Given the description of an element on the screen output the (x, y) to click on. 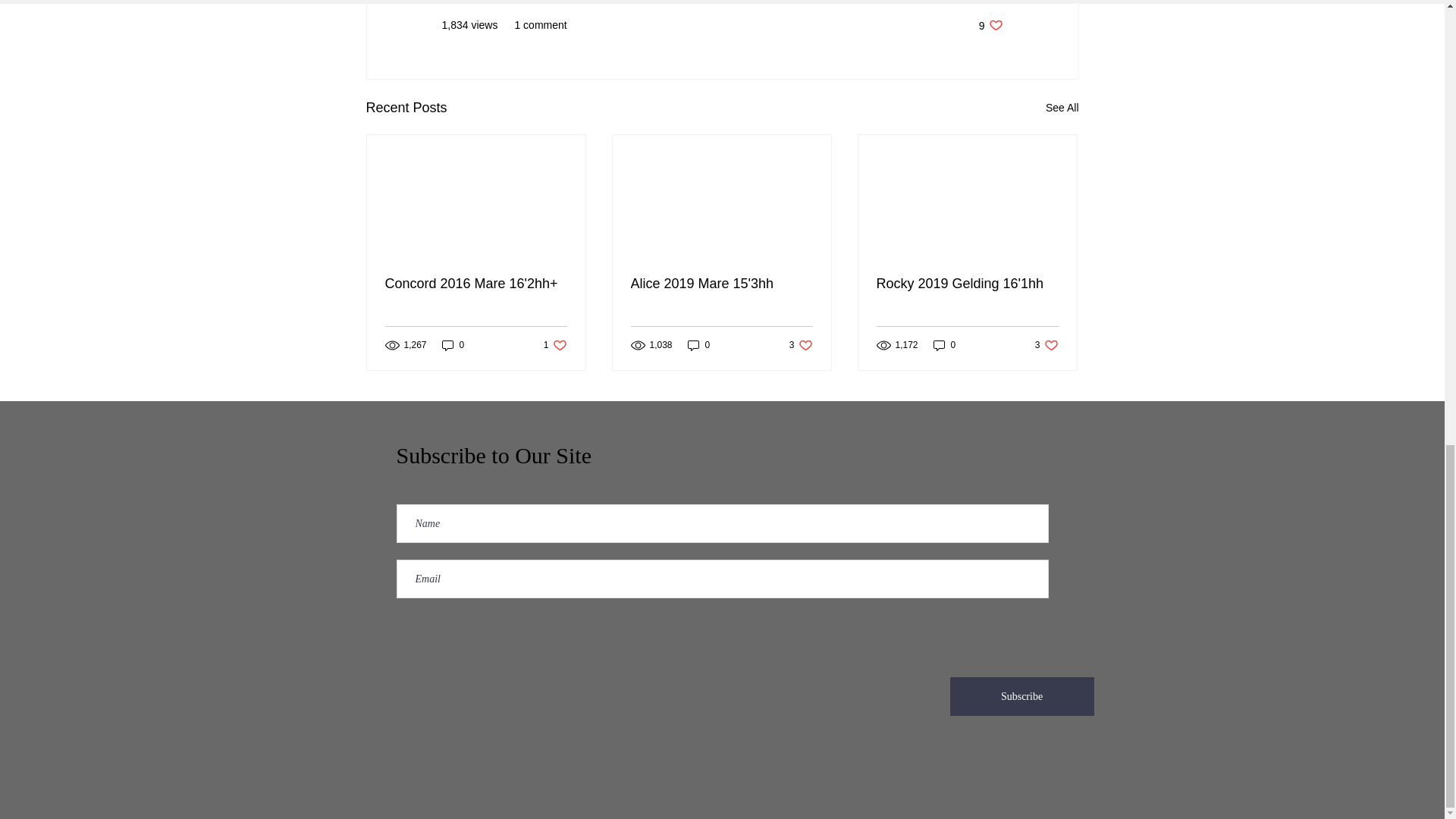
See All (1061, 107)
0 (944, 345)
Alice 2019 Mare 15'3hh (721, 283)
Subscribe (800, 345)
0 (990, 25)
Rocky 2019 Gelding 16'1hh (1021, 696)
